Given the description of an element on the screen output the (x, y) to click on. 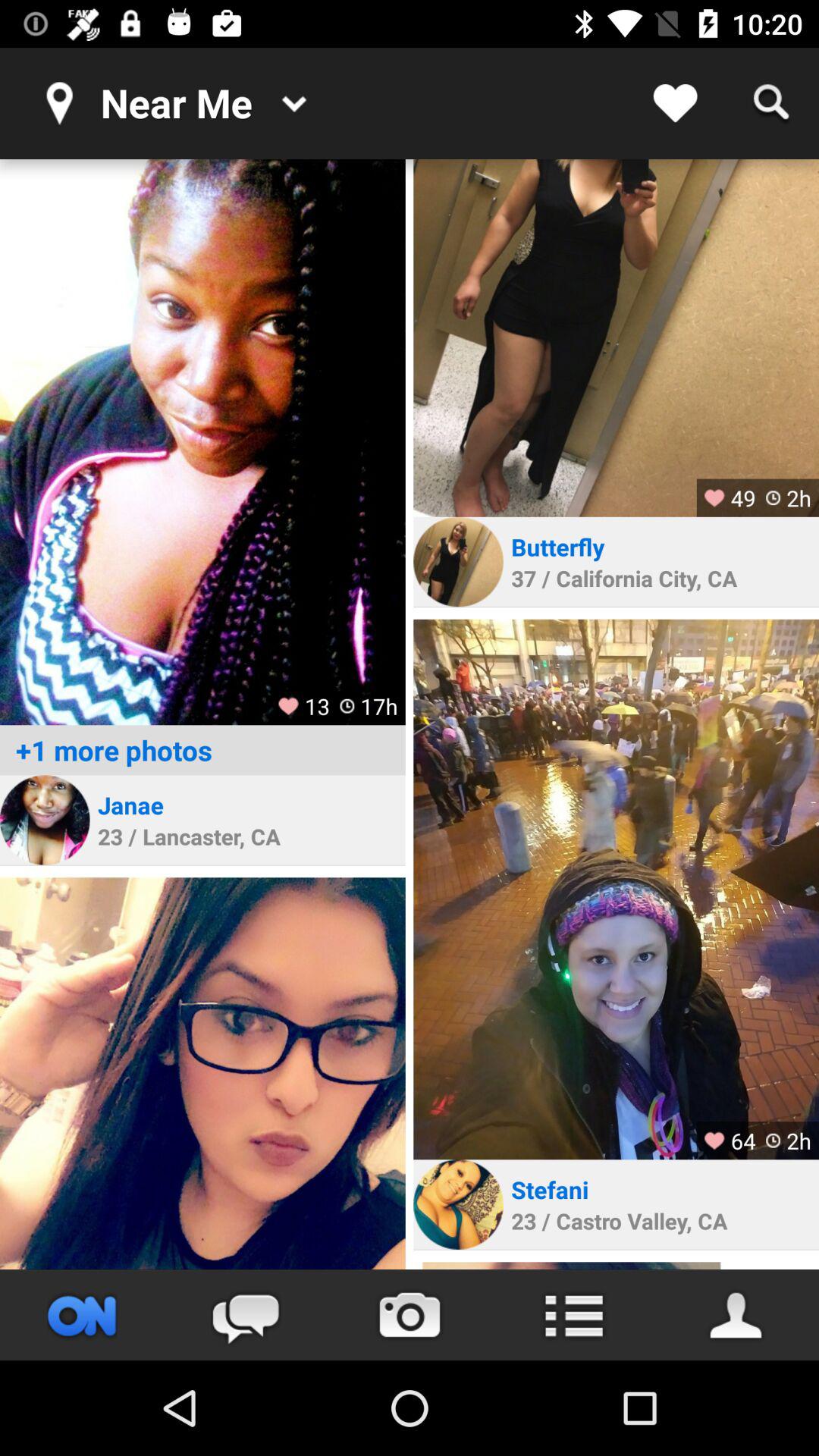
view picture (202, 1073)
